Given the description of an element on the screen output the (x, y) to click on. 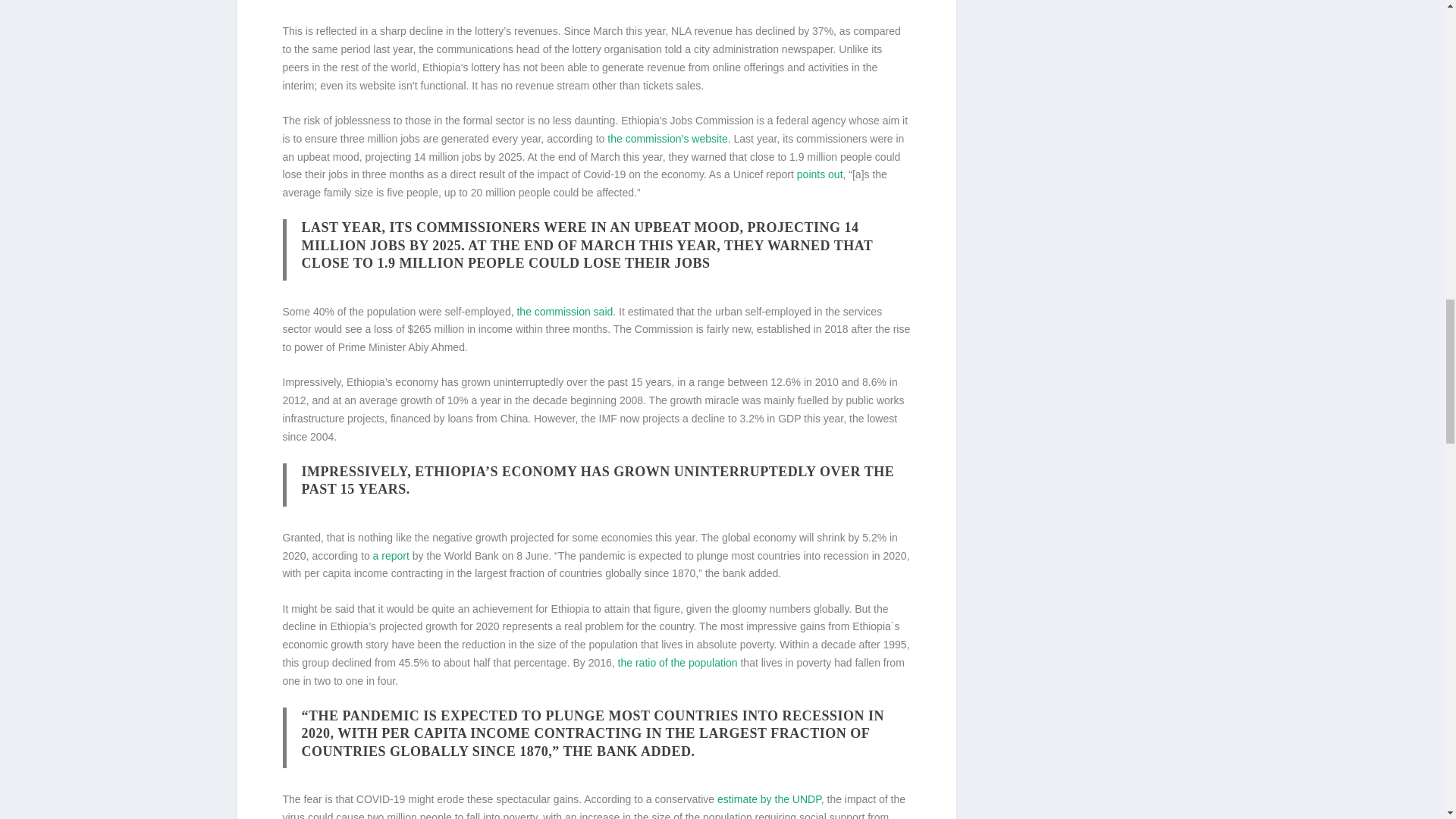
a report (390, 555)
estimate by the UNDP (769, 799)
the ratio of the population (677, 662)
the commission said (564, 311)
points out (819, 174)
